Given the description of an element on the screen output the (x, y) to click on. 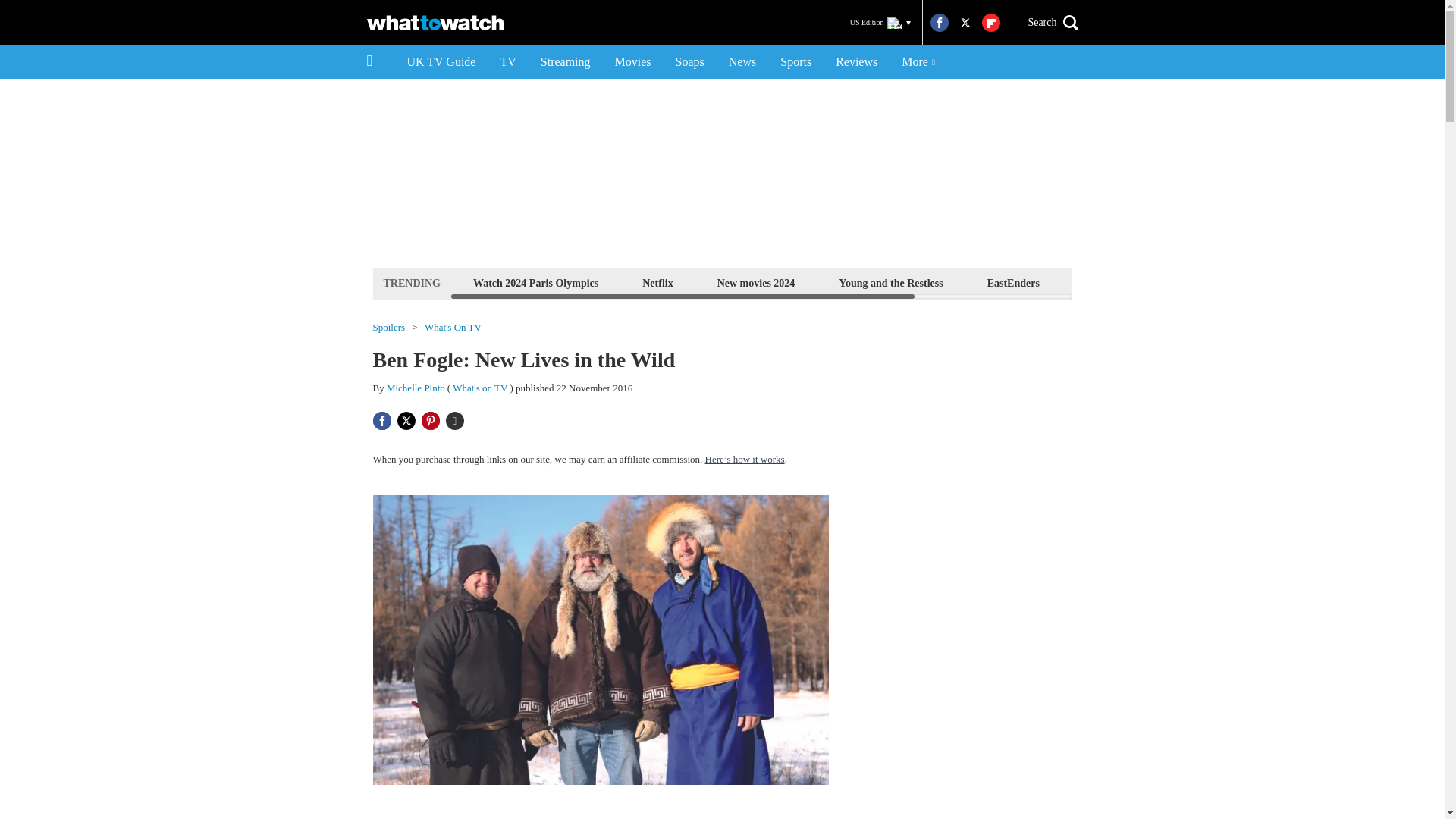
Soaps (689, 61)
Emmerdale (1109, 282)
What's on TV (479, 387)
UK TV Guide (440, 61)
Reviews (856, 61)
Movies (632, 61)
Spoilers (389, 327)
Coronation Street (1220, 282)
Michelle Pinto (416, 387)
Young and the Restless (889, 282)
News (742, 61)
Sports (796, 61)
New movies 2024 (755, 282)
Streaming (565, 61)
TV (507, 61)
